Given the description of an element on the screen output the (x, y) to click on. 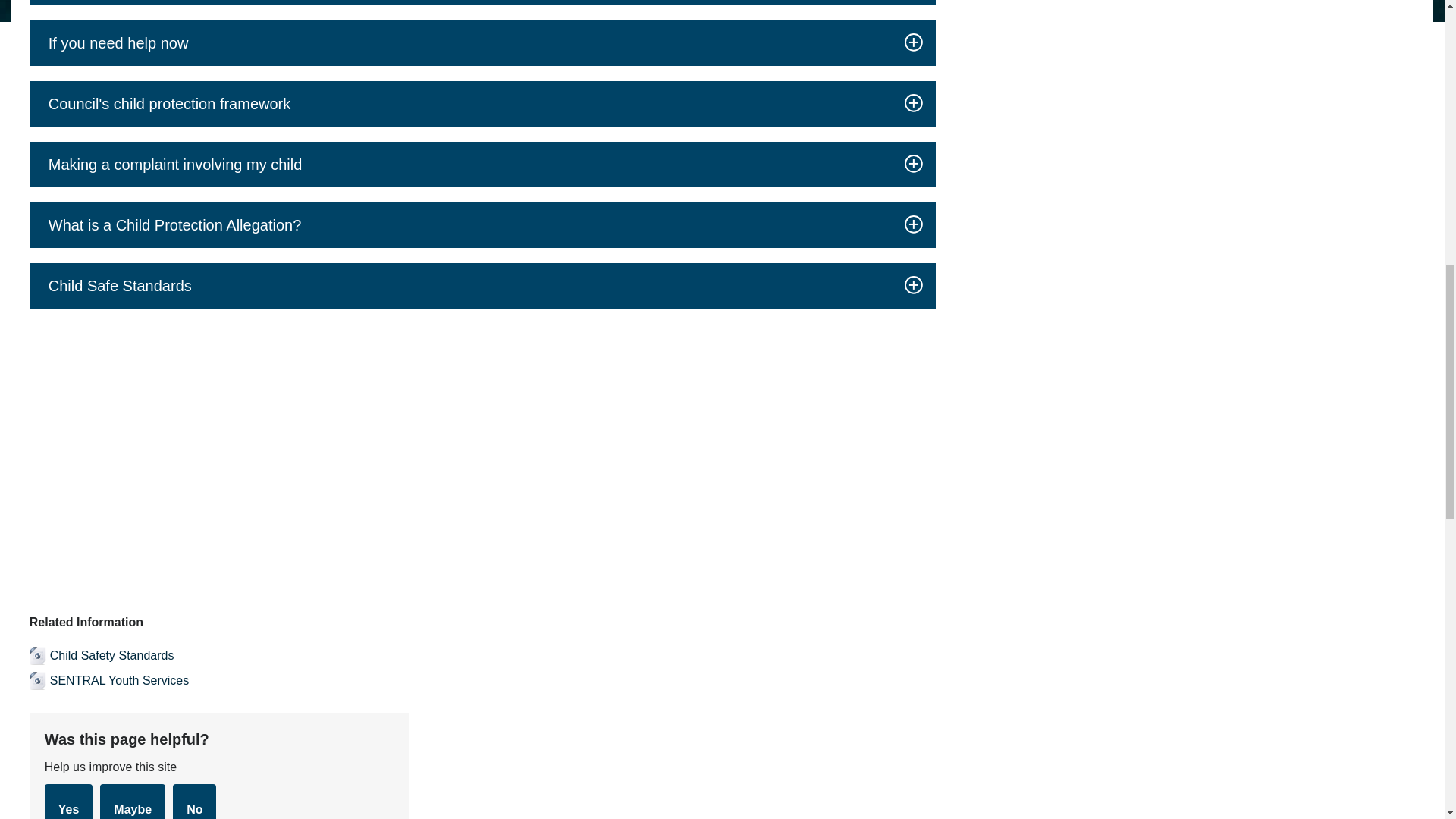
Yes (69, 801)
Maybe (132, 801)
Yes, this page was helpful (69, 801)
Child Safety Standards (482, 656)
No, this page was not helpful (194, 801)
No (194, 801)
SENTRAL Youth Services (482, 680)
